Given the description of an element on the screen output the (x, y) to click on. 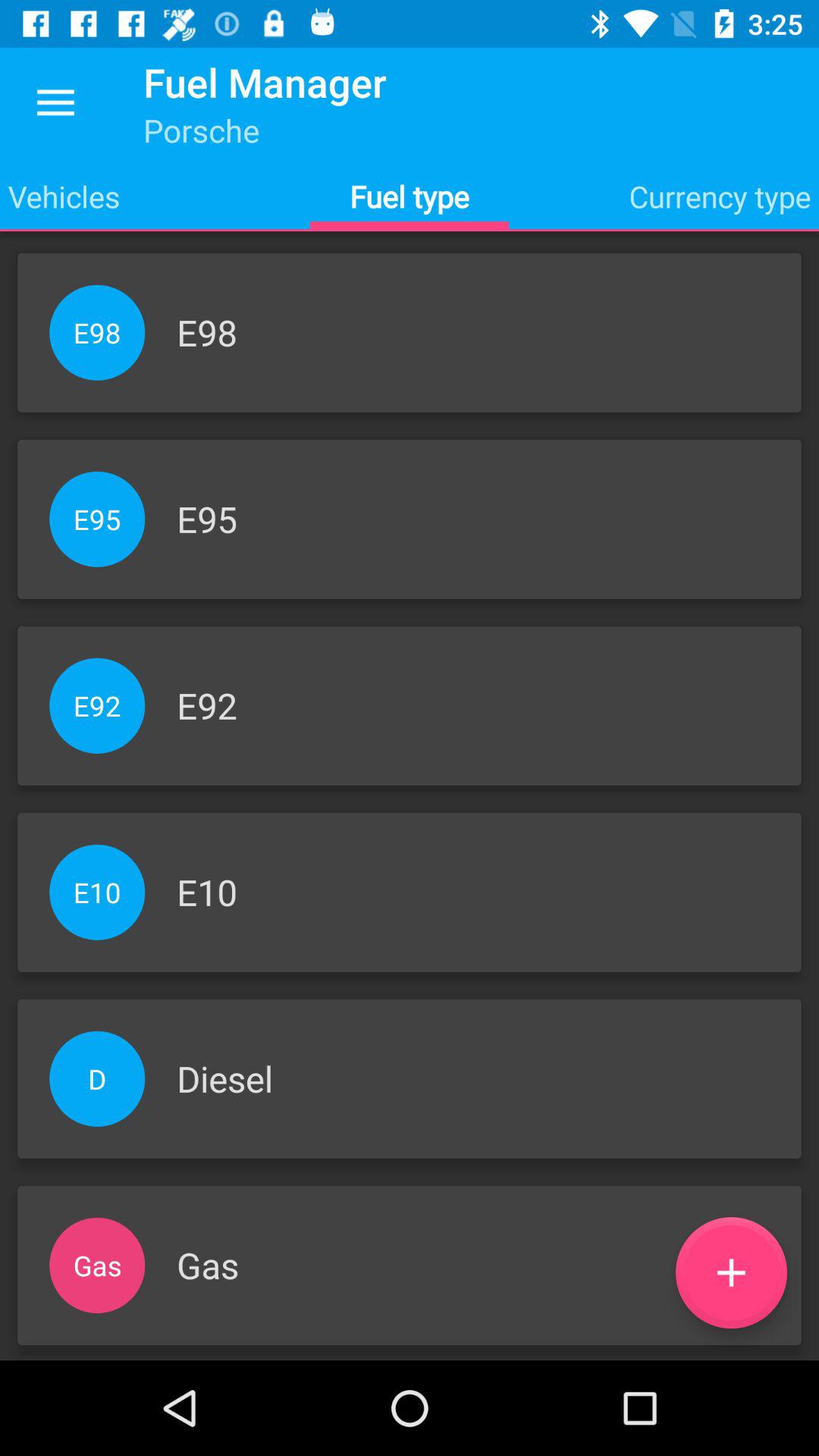
add to favorites (731, 1272)
